Given the description of an element on the screen output the (x, y) to click on. 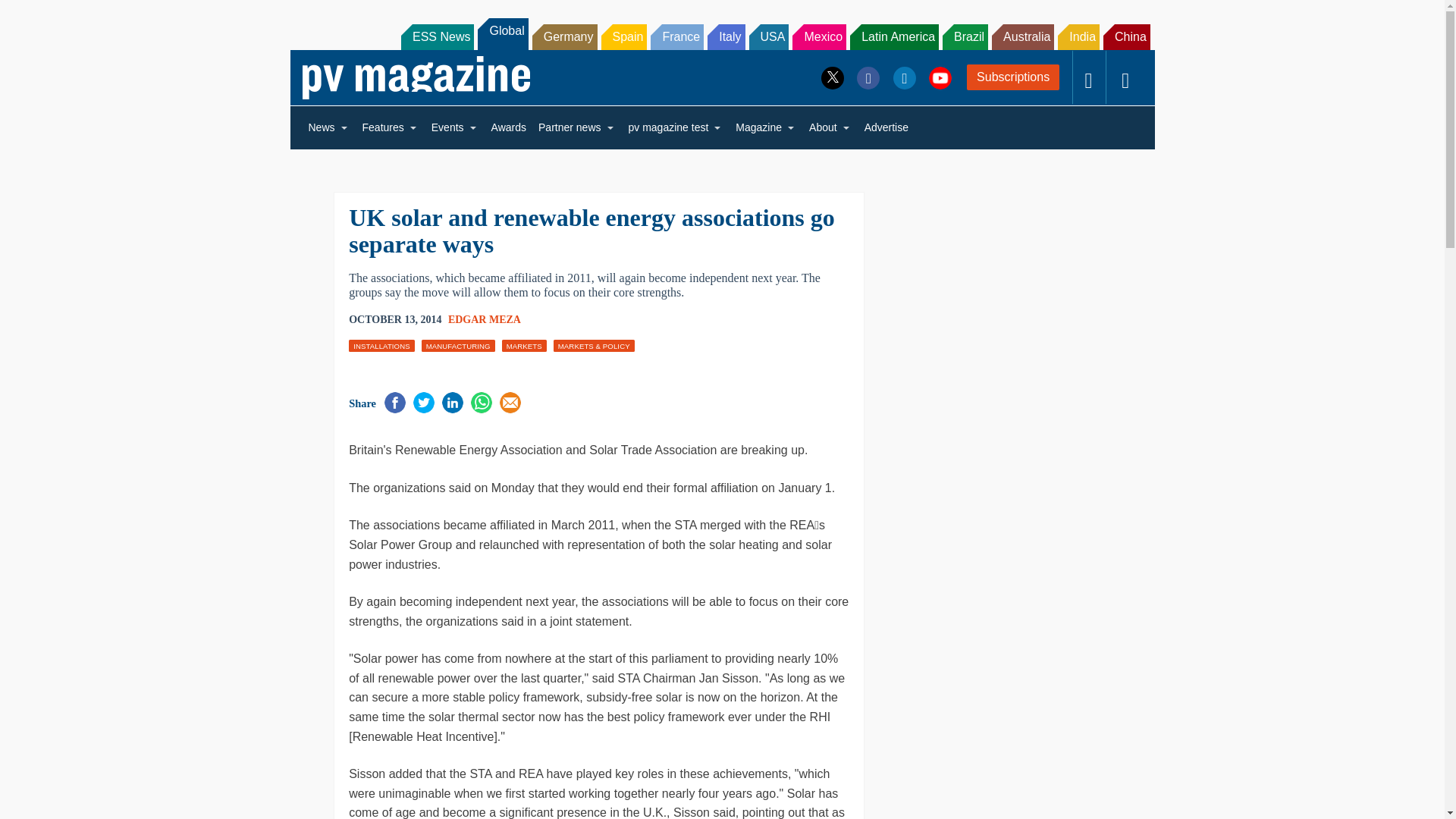
Spain (622, 36)
ESS News (437, 36)
Brazil (965, 36)
pv magazine - Photovoltaics Markets and Technology (415, 77)
Search (32, 15)
Monday, October 13, 2014, 12:00 am (395, 320)
Latin America (894, 36)
Global (502, 33)
Germany (564, 36)
Italy (725, 36)
